Given the description of an element on the screen output the (x, y) to click on. 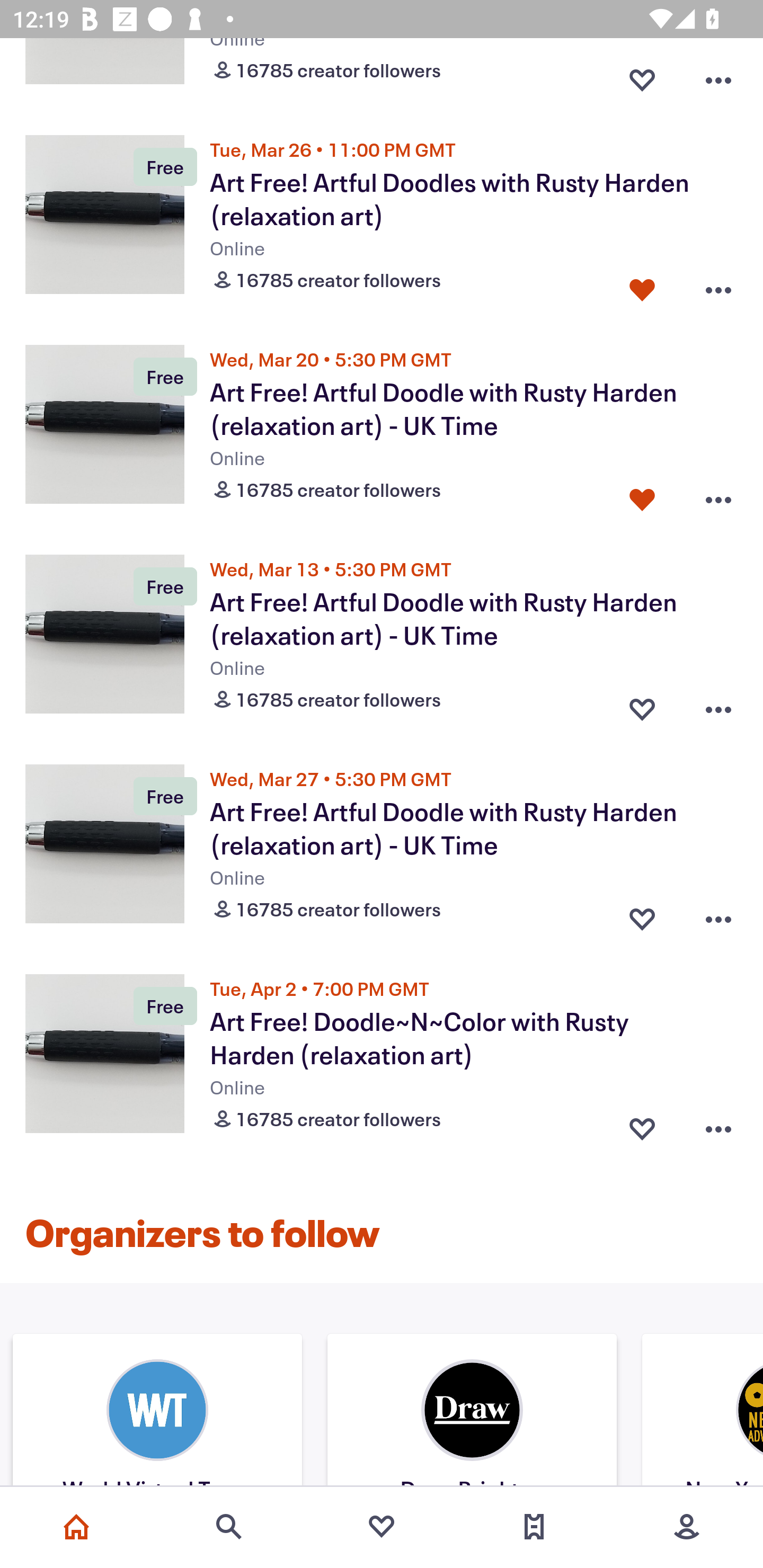
Favorite button (642, 75)
Overflow menu button (718, 75)
Favorite button (642, 285)
Overflow menu button (718, 285)
Favorite button (642, 495)
Overflow menu button (718, 495)
Favorite button (642, 704)
Overflow menu button (718, 704)
Favorite button (642, 914)
Overflow menu button (718, 914)
Favorite button (642, 1124)
Overflow menu button (718, 1124)
Organizer's image World Virtual Tours (157, 1412)
Organizer's image Draw Brighton (471, 1412)
Home (76, 1526)
Search events (228, 1526)
Favorites (381, 1526)
Tickets (533, 1526)
More (686, 1526)
